Given the description of an element on the screen output the (x, y) to click on. 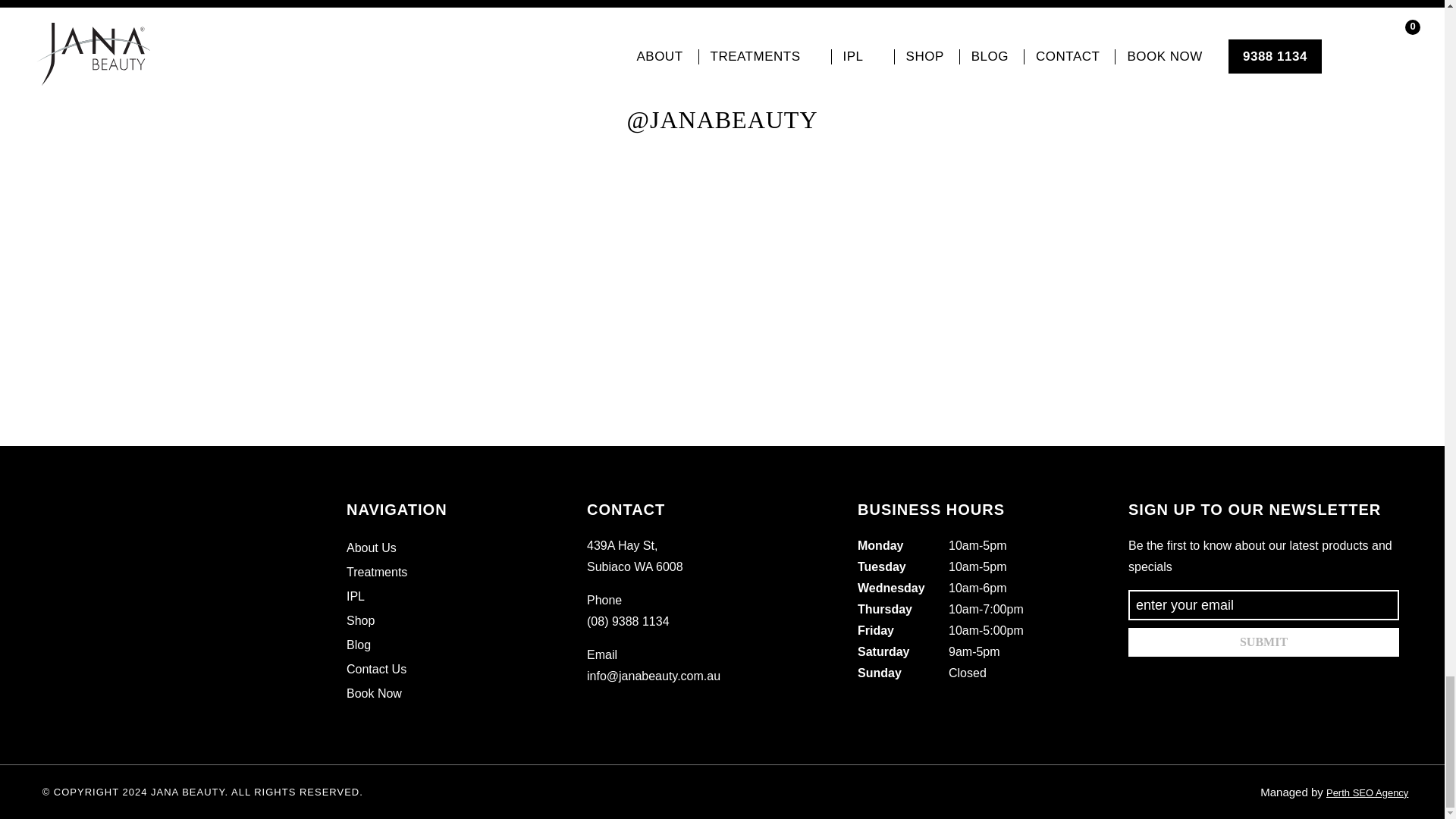
Book Now (373, 693)
Treatments (376, 571)
Contact Us (376, 668)
About Us (371, 547)
Submit (1263, 642)
IPL (355, 595)
Shop (360, 620)
Submit (1263, 642)
Blog (358, 644)
